Given the description of an element on the screen output the (x, y) to click on. 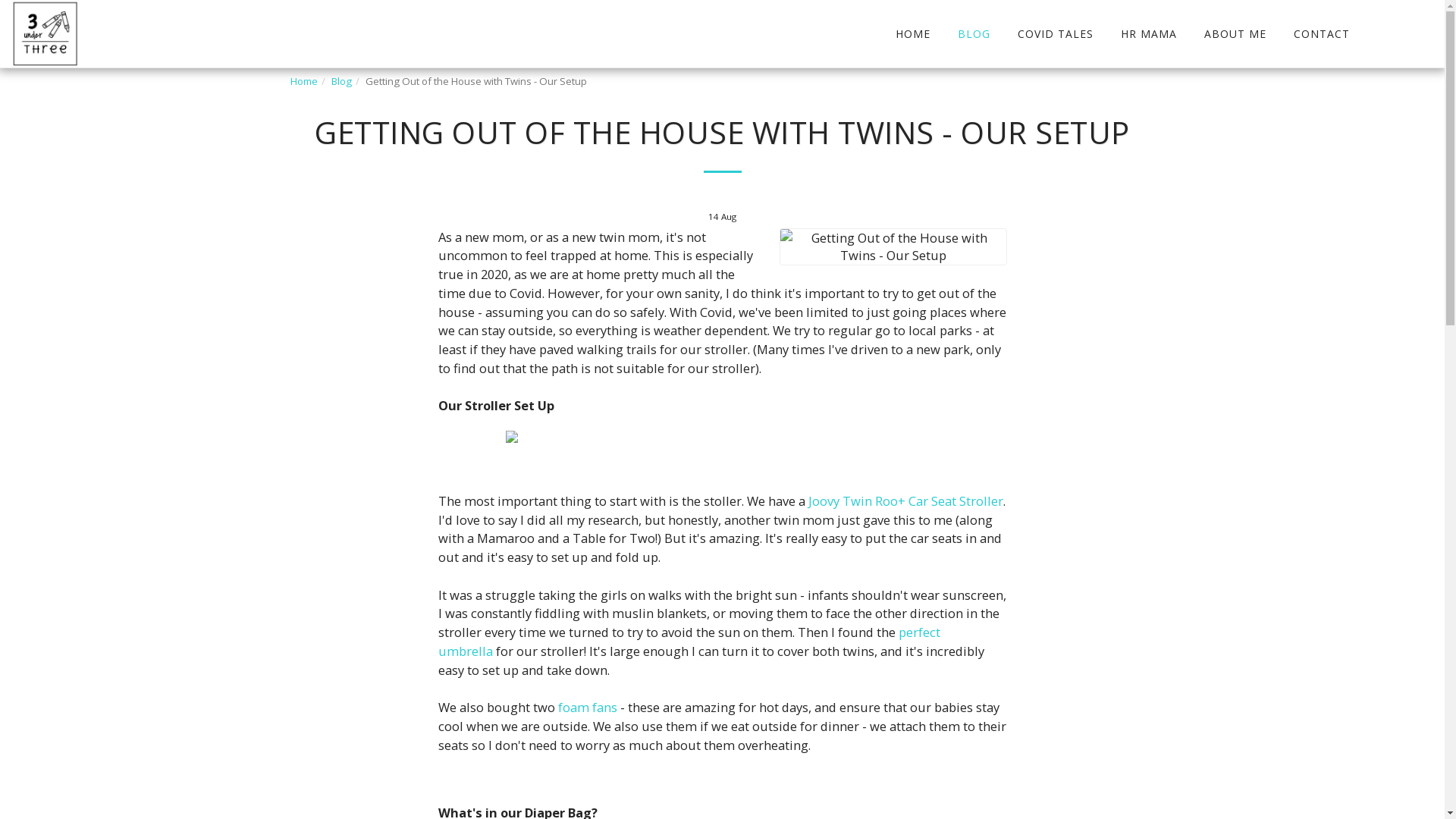
  Element type: text (1375, 33)
Joovy Twin Roo+ Car Seat Stroller Element type: text (905, 500)
COVID TALES Element type: text (1055, 32)
foam fans  Element type: text (589, 706)
HR MAMA Element type: text (1148, 32)
Home Element type: text (302, 80)
ABOUT ME Element type: text (1234, 32)
  Element type: text (1398, 33)
CONTACT Element type: text (1321, 32)
perfect umbrella  Element type: text (689, 641)
HOME Element type: text (912, 32)
Blog Element type: text (340, 80)
  Element type: text (1421, 33)
BLOG Element type: text (973, 32)
